Given the description of an element on the screen output the (x, y) to click on. 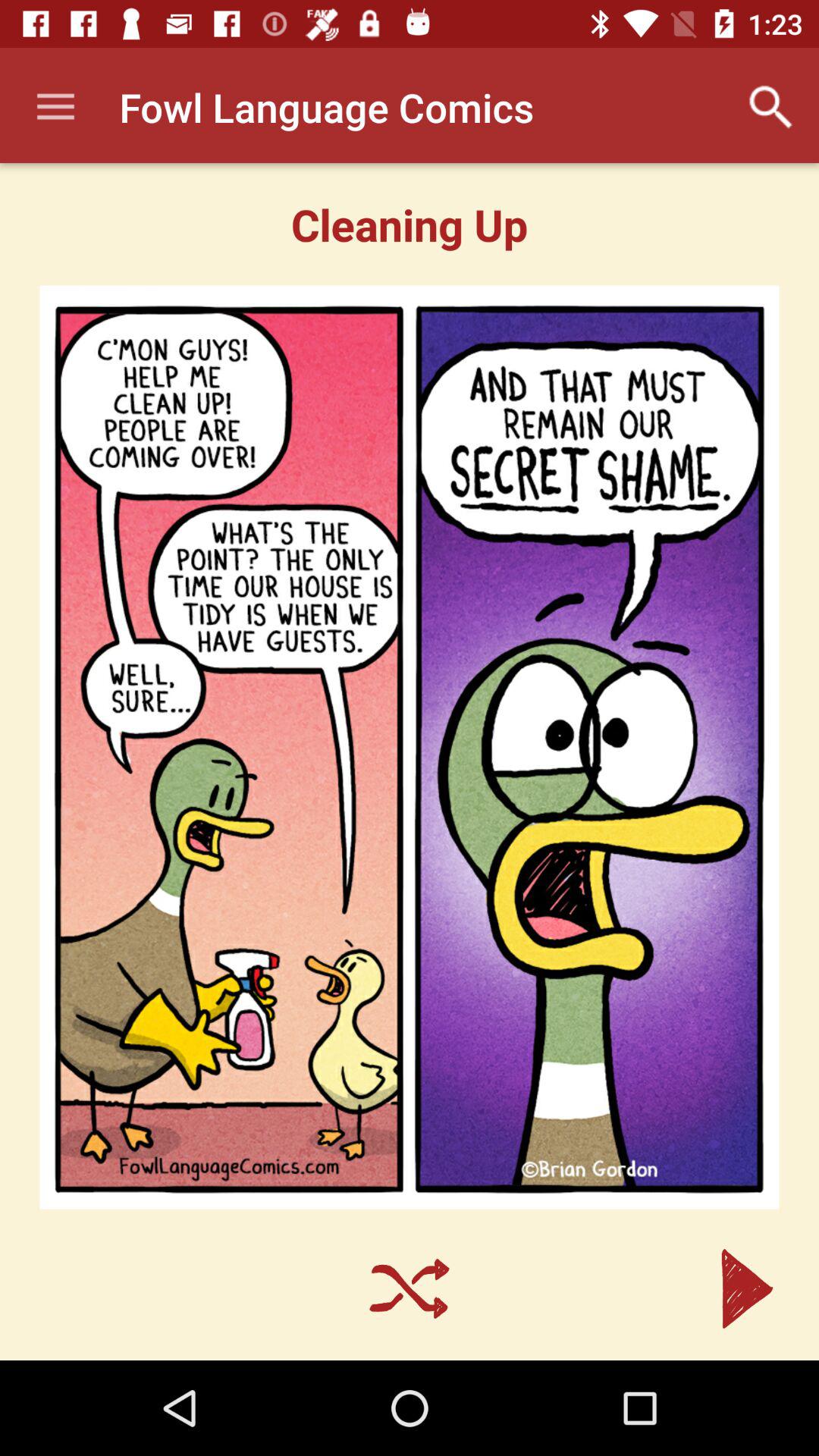
tap the app next to fowl language comics item (55, 107)
